Given the description of an element on the screen output the (x, y) to click on. 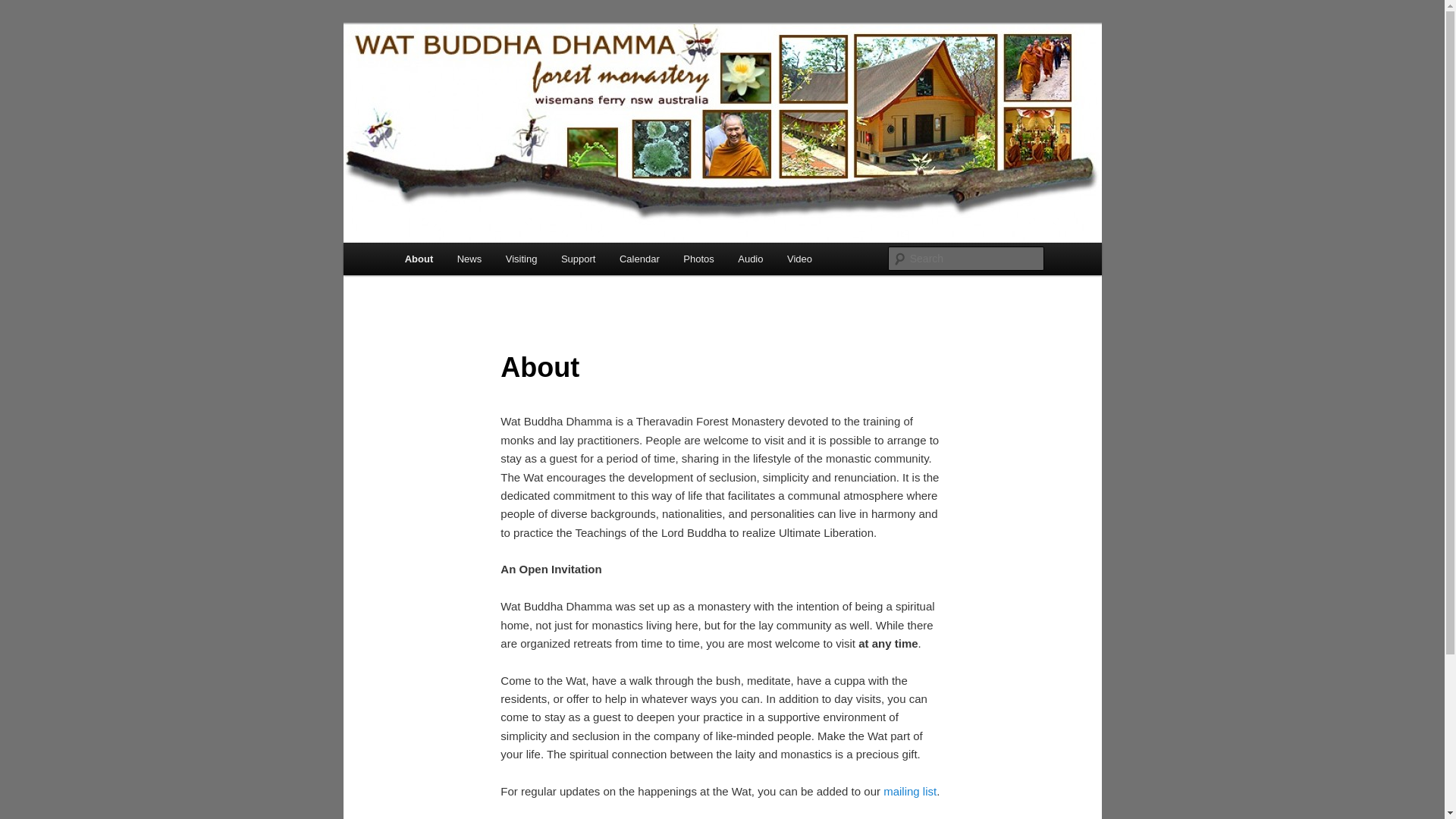
Skip to primary content Element type: text (414, 242)
Photos Element type: text (698, 258)
Wat Buddha Dhamma Element type: text (517, 78)
Calendar Element type: text (639, 258)
Visiting Element type: text (521, 258)
About Element type: text (418, 258)
Support Element type: text (578, 258)
Search Element type: text (24, 8)
News Element type: text (469, 258)
mailing list Element type: text (909, 790)
Audio Element type: text (750, 258)
Video Element type: text (799, 258)
